Given the description of an element on the screen output the (x, y) to click on. 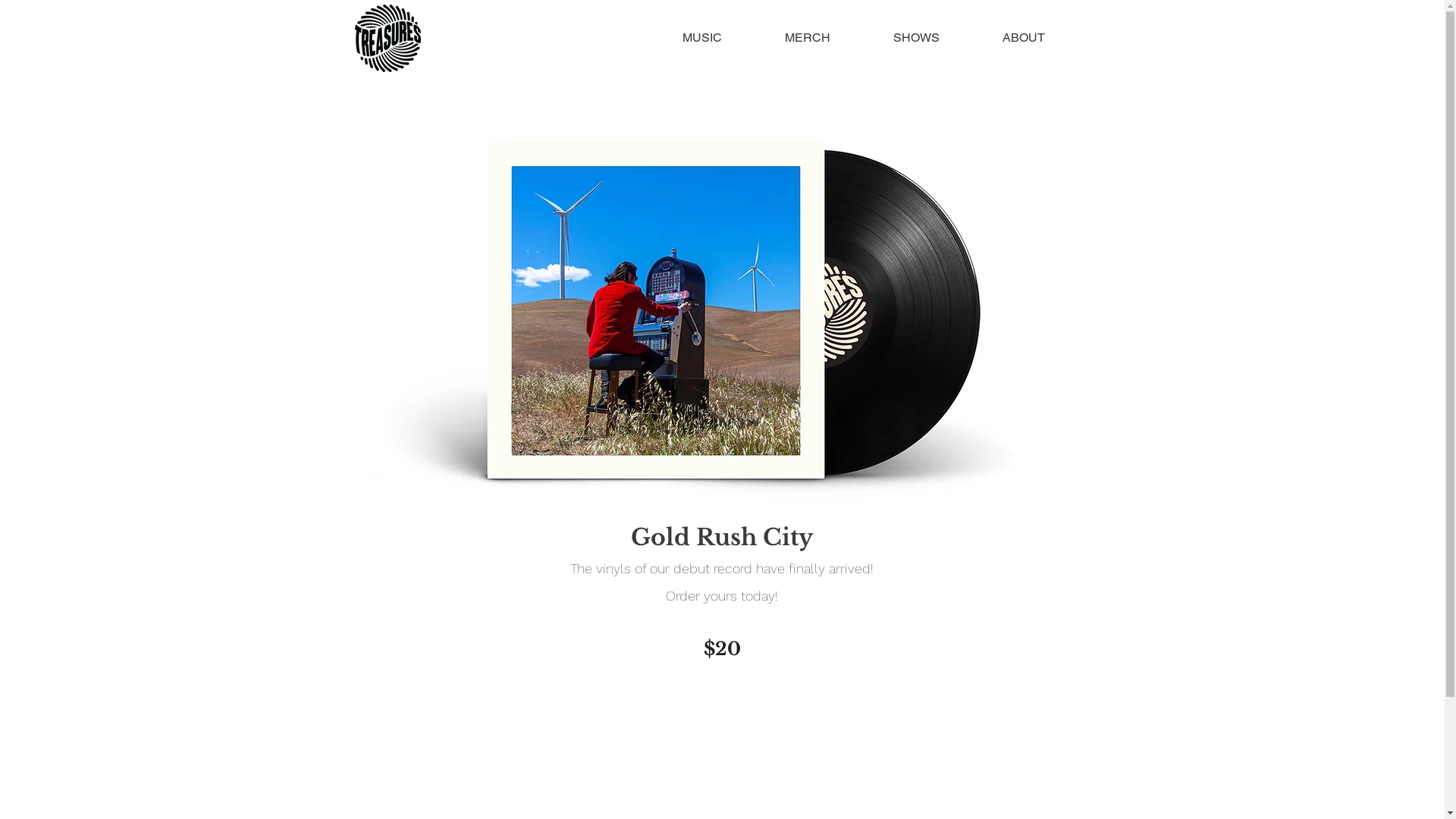
MUSIC Element type: text (701, 37)
ABOUT Element type: text (1023, 37)
MERCH Element type: text (807, 37)
SHOWS Element type: text (915, 37)
